Given the description of an element on the screen output the (x, y) to click on. 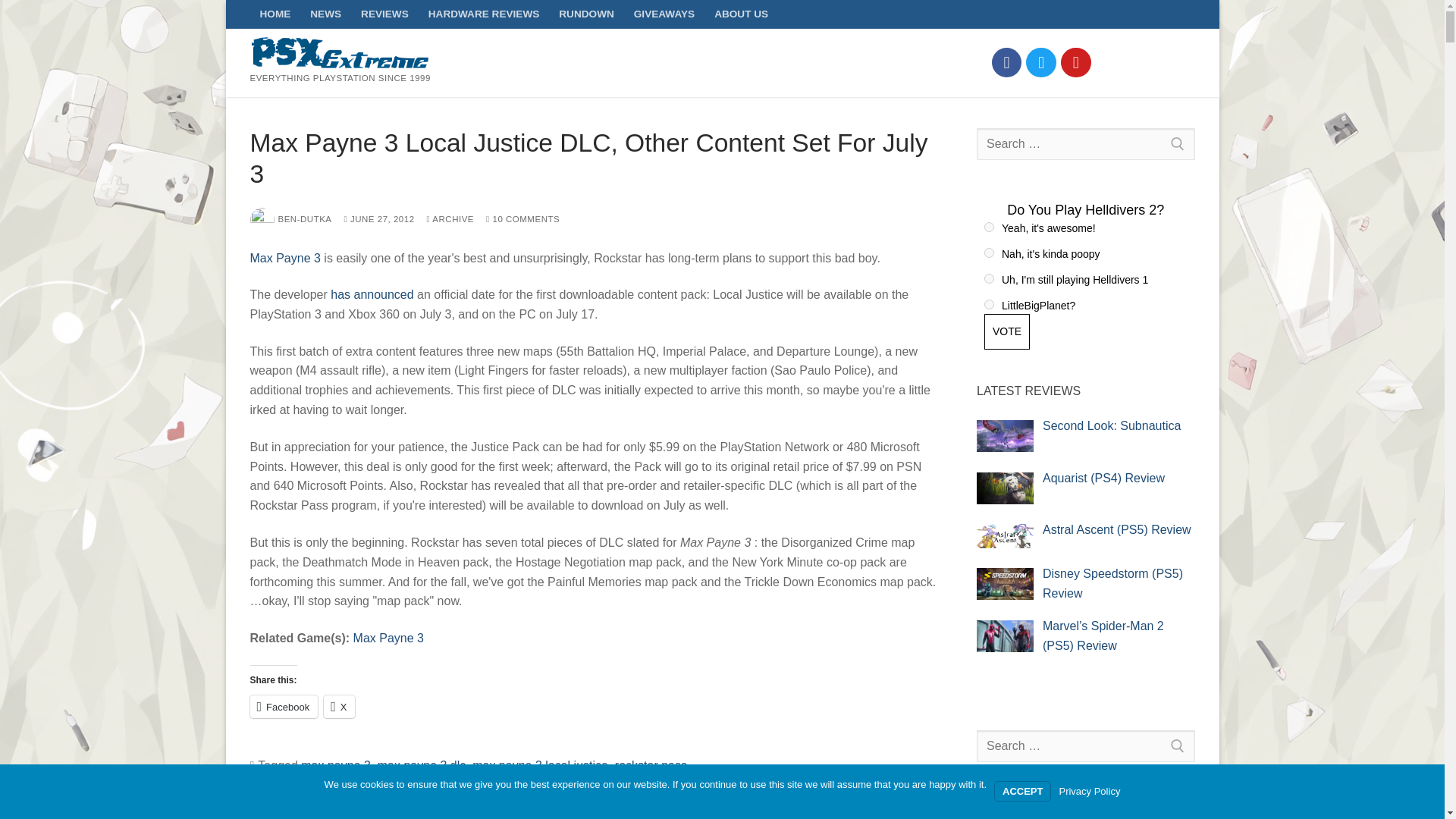
JUNE 27, 2012 (378, 218)
Click to share on Facebook (284, 706)
15 (989, 252)
18 (989, 304)
X (339, 706)
10 COMMENTS (522, 218)
14 (989, 226)
Youtube (1075, 62)
ARCHIVE (450, 218)
has announced (371, 294)
Max Payne 3 (285, 257)
rockstar pass (650, 765)
Facebook (284, 706)
BEN-DUTKA (290, 218)
REVIEWS (384, 14)
